Given the description of an element on the screen output the (x, y) to click on. 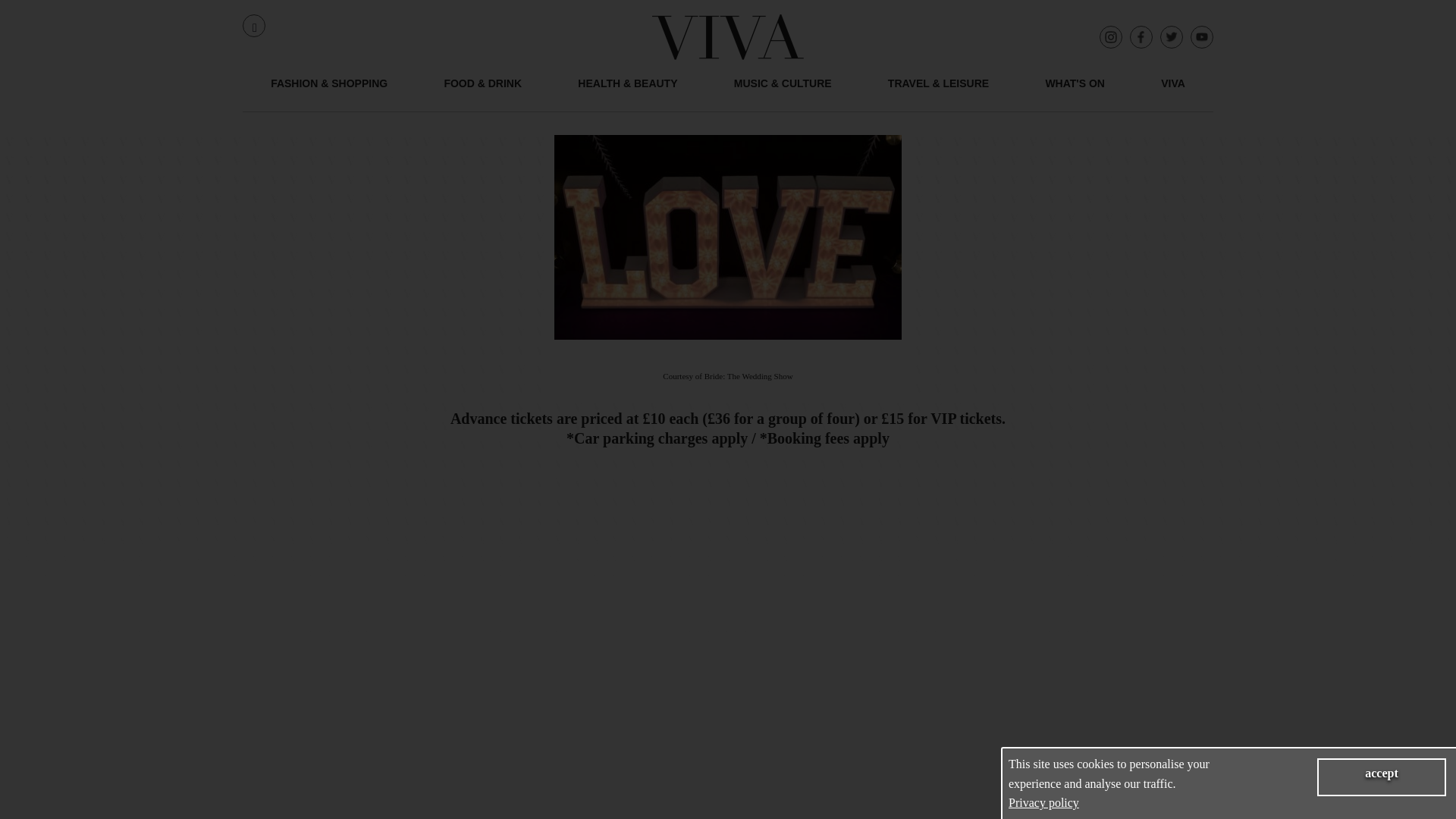
Subscribe (1166, 761)
